Given the description of an element on the screen output the (x, y) to click on. 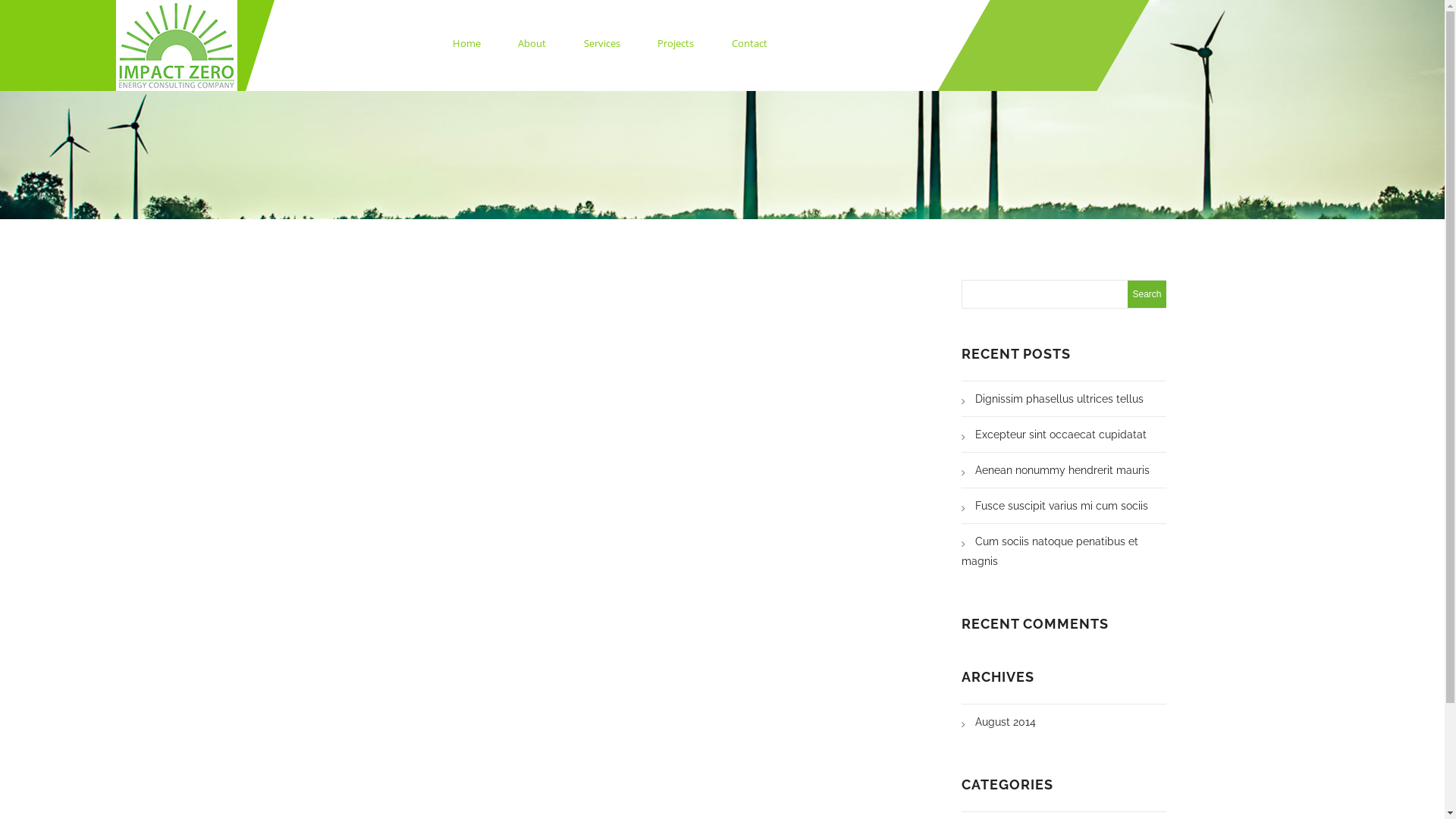
Home Element type: text (466, 43)
Contact Element type: text (749, 43)
About Element type: text (531, 43)
Projects Element type: text (676, 43)
Fusce suscipit varius mi cum sociis Element type: text (1054, 505)
Dignissim phasellus ultrices tellus Element type: text (1052, 398)
Cum sociis natoque penatibus et magnis Element type: text (1049, 551)
Green energy Element type: hover (176, 41)
August 2014 Element type: text (998, 721)
Aenean nonummy hendrerit mauris Element type: text (1055, 470)
Excepteur sint occaecat cupidatat Element type: text (1053, 434)
Services Element type: text (601, 43)
Search Element type: text (1146, 293)
